Given the description of an element on the screen output the (x, y) to click on. 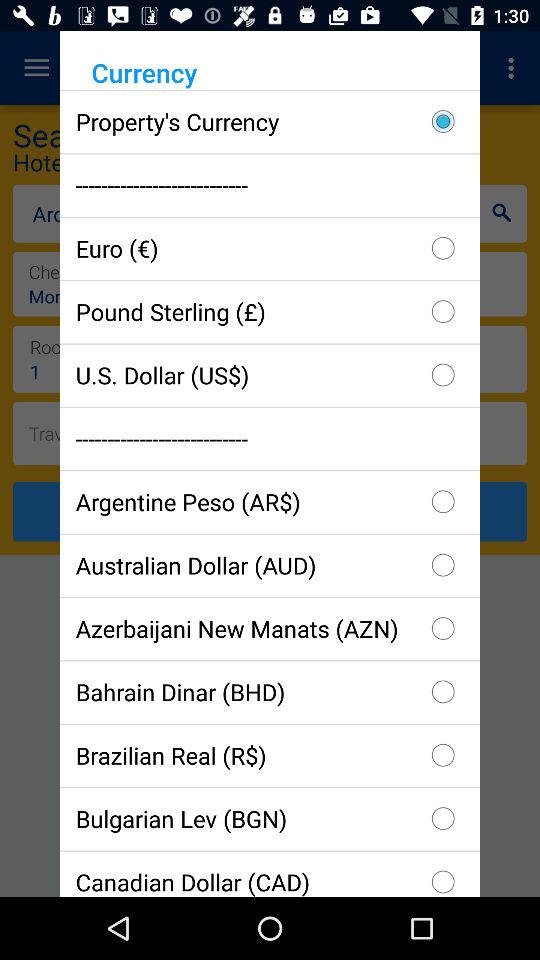
turn off the icon below the bahrain dinar (bhd) item (270, 755)
